Given the description of an element on the screen output the (x, y) to click on. 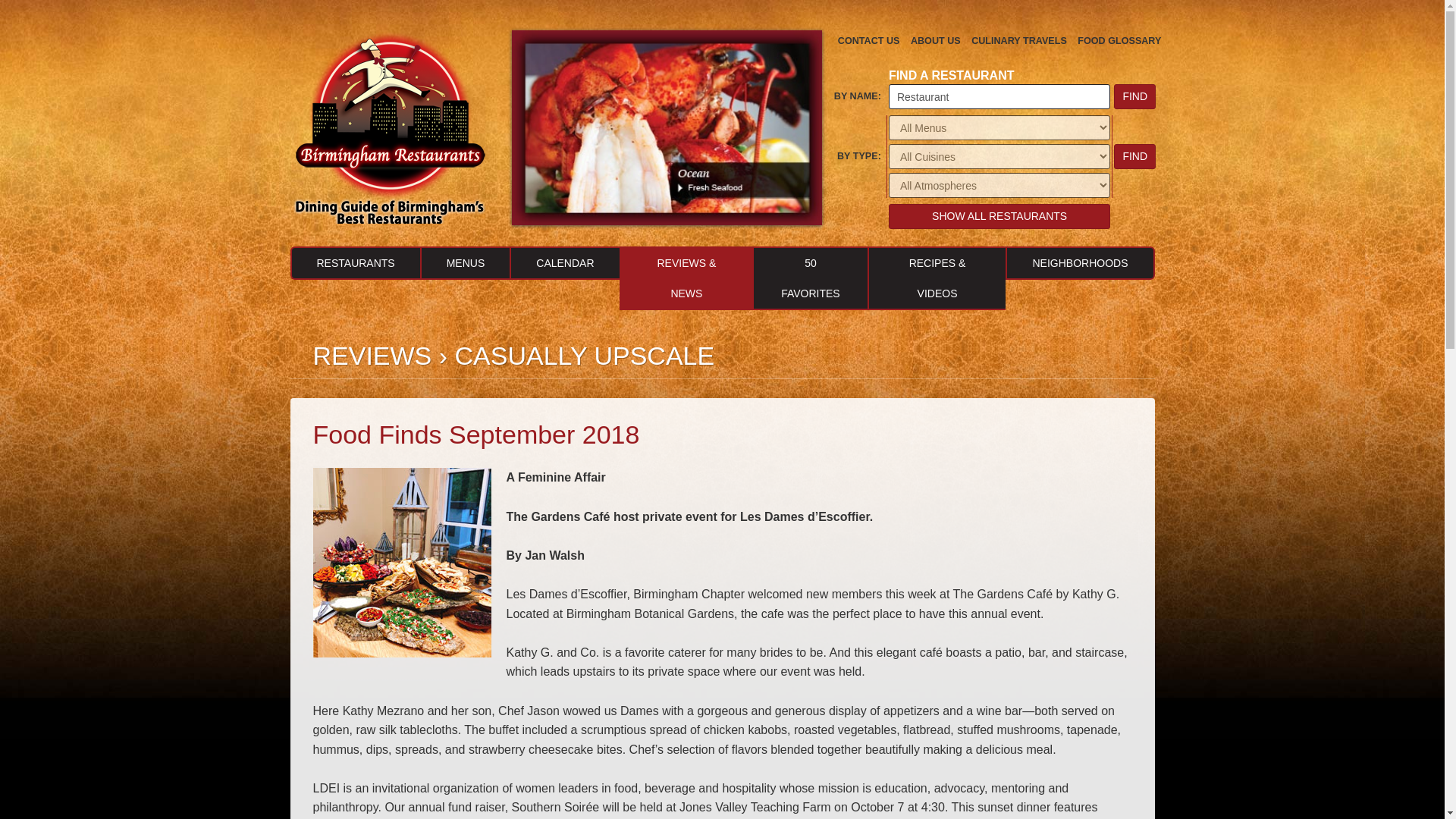
Find (1134, 96)
Show All Restaurants (999, 216)
RESTAURANTS (354, 263)
FOOD GLOSSARY (1119, 40)
Find (1134, 96)
CONTACT US (869, 40)
CULINARY TRAVELS (1019, 40)
Birmingham Restaurants (389, 126)
Find (1134, 156)
Show All Restaurants (999, 216)
ABOUT US (935, 40)
Find (1134, 156)
